Given the description of an element on the screen output the (x, y) to click on. 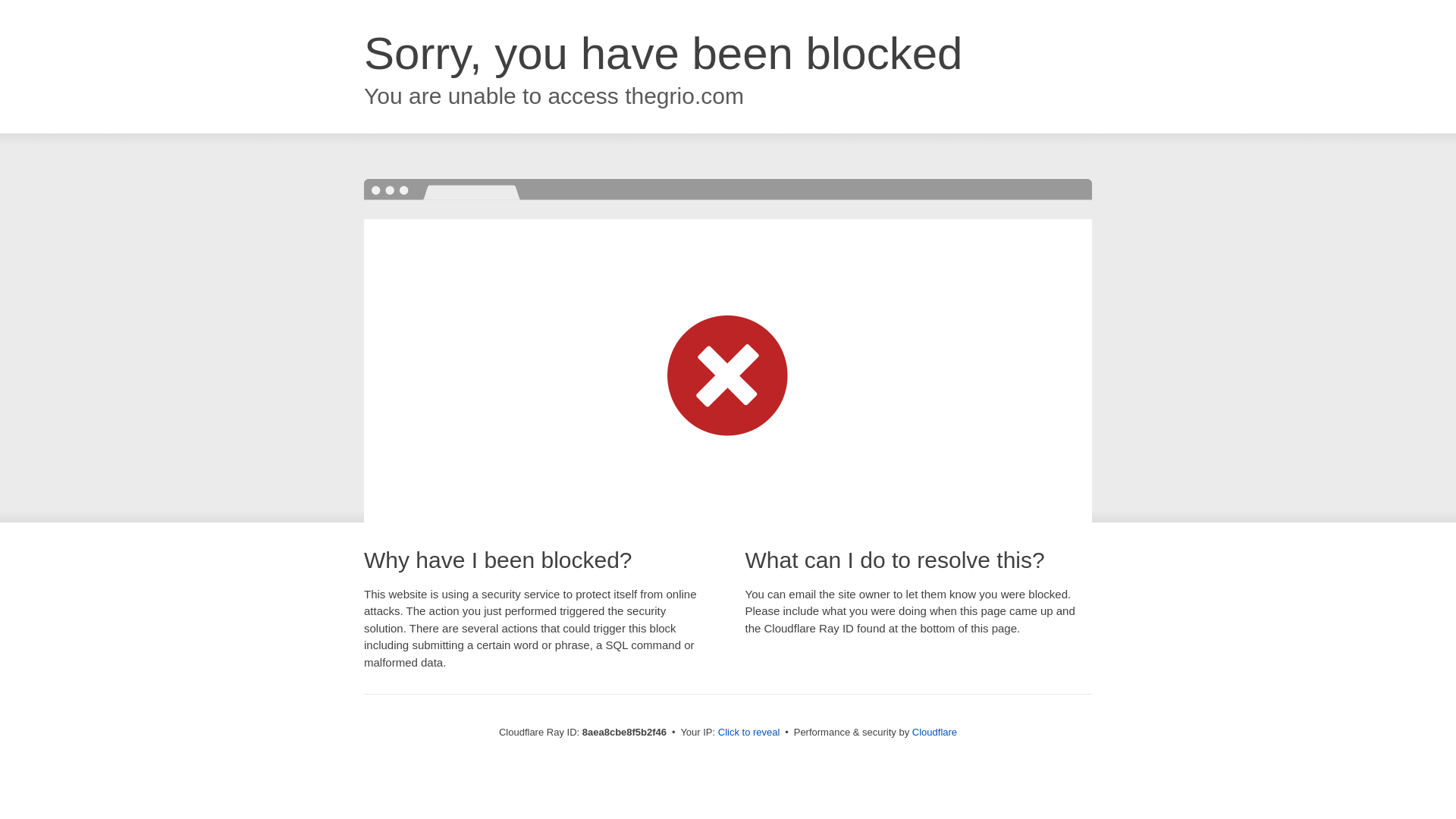
Cloudflare (934, 731)
Click to reveal (748, 732)
